Given the description of an element on the screen output the (x, y) to click on. 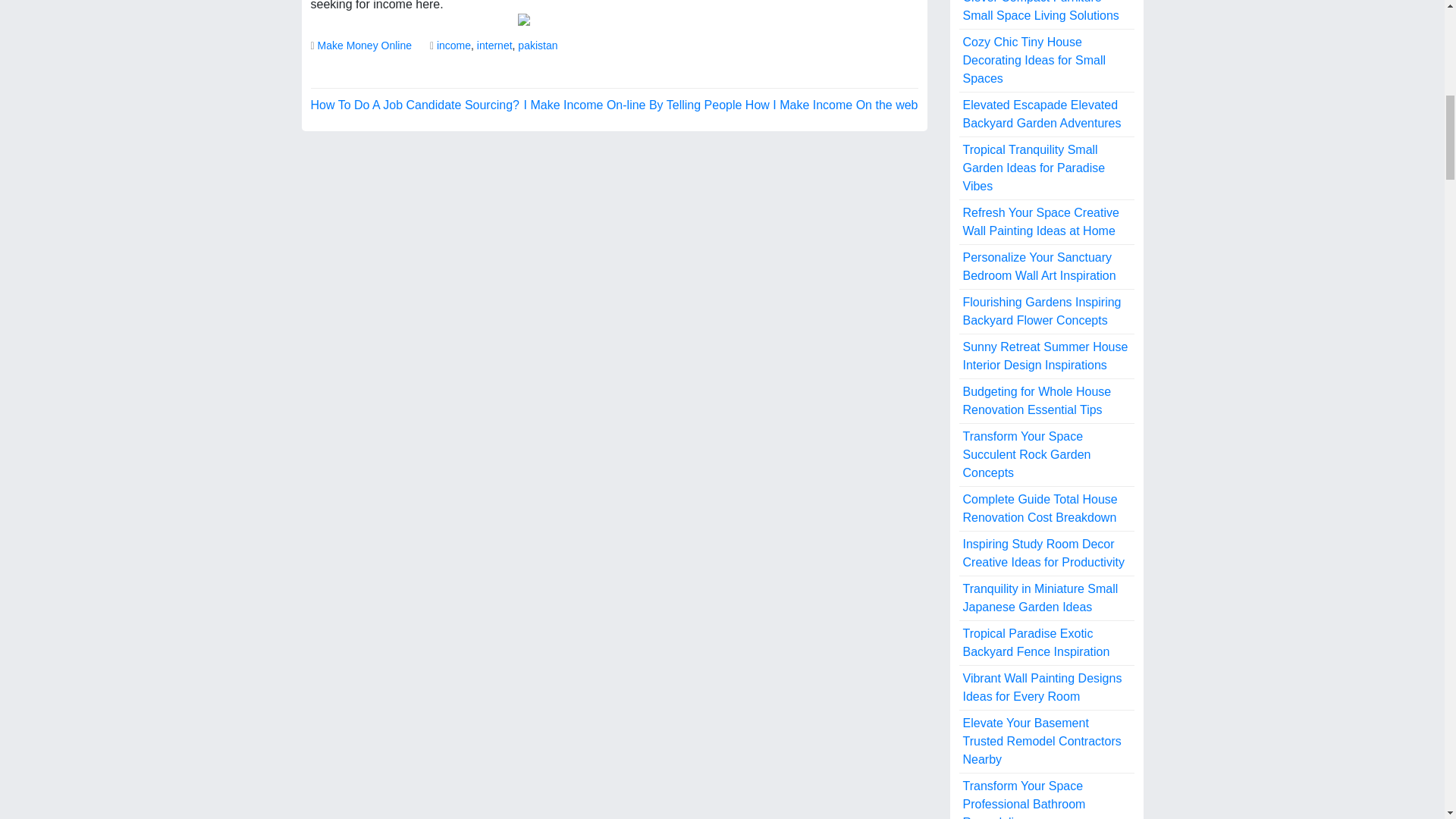
internet (494, 45)
income (453, 45)
pakistan (537, 45)
Make Money Online (364, 45)
